Given the description of an element on the screen output the (x, y) to click on. 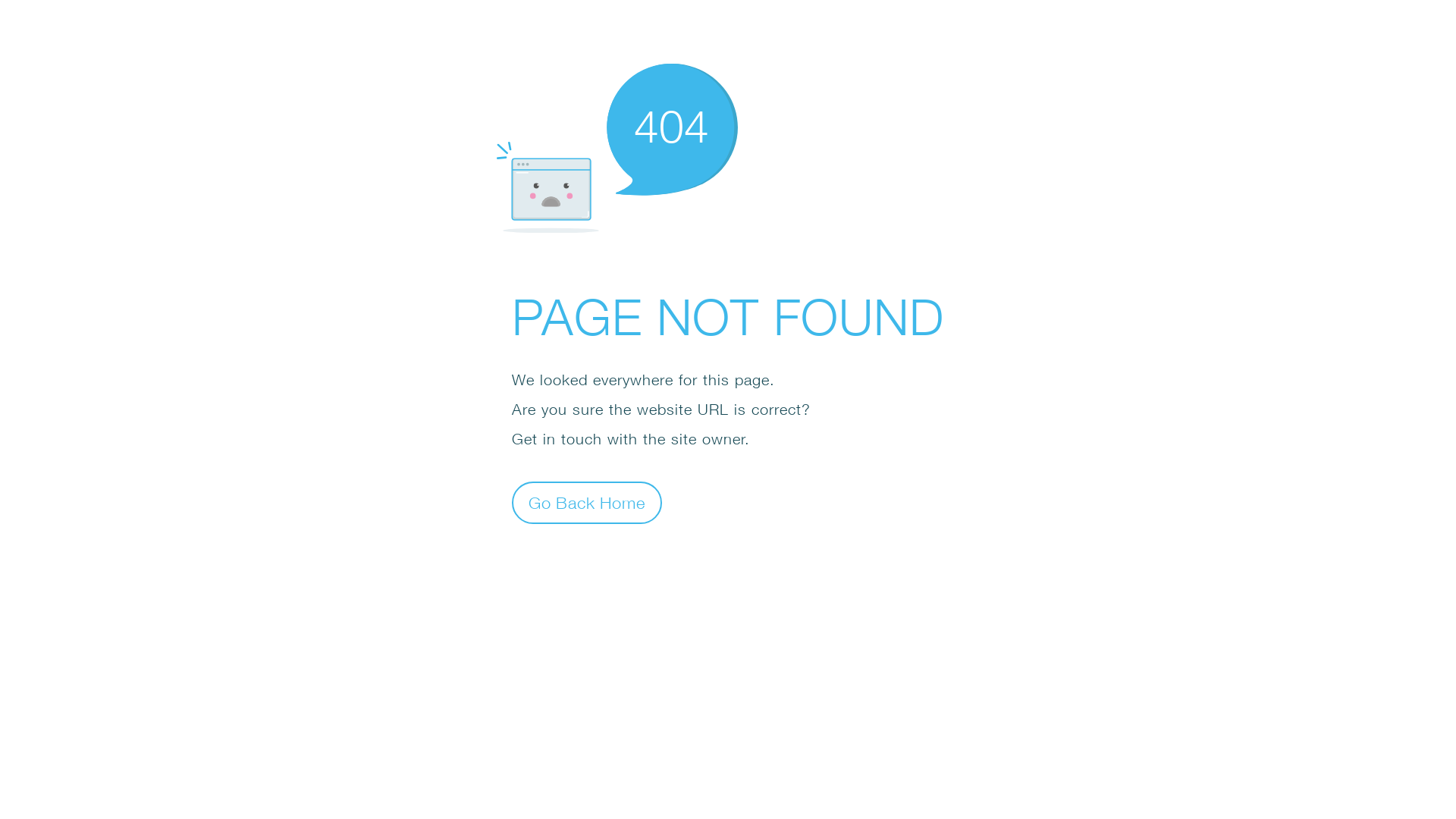
Go Back Home Element type: text (586, 502)
